Given the description of an element on the screen output the (x, y) to click on. 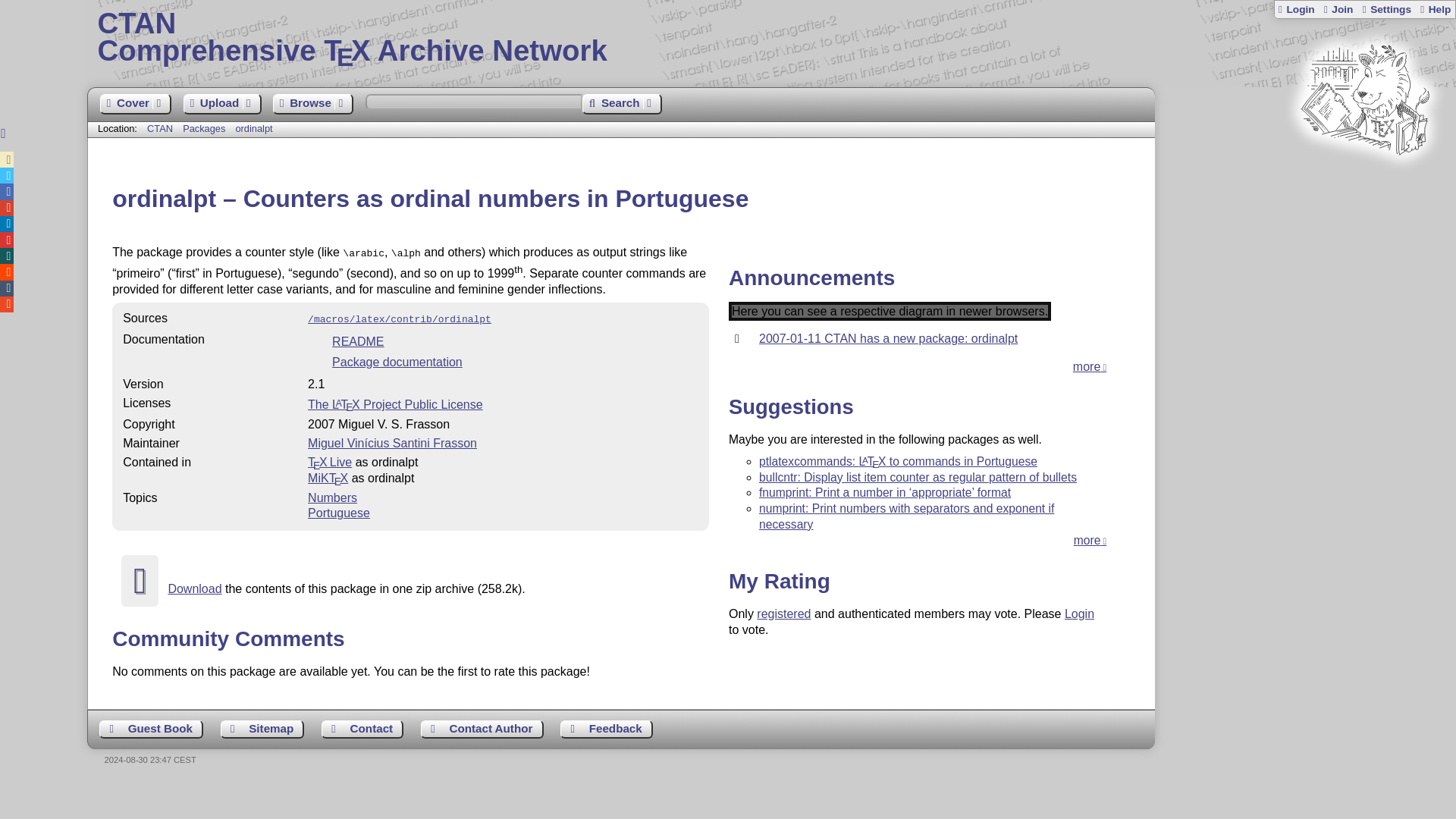
Login with your personal account (1296, 8)
CTAN (160, 128)
Leave some words for other visitors (151, 729)
Register a new personal account on this site (1337, 8)
README (357, 341)
Package documentation (397, 361)
Join (1337, 8)
Show the structure of this site (262, 729)
ordinalpt (253, 128)
Get some information about this Web site (1434, 8)
